Given the description of an element on the screen output the (x, y) to click on. 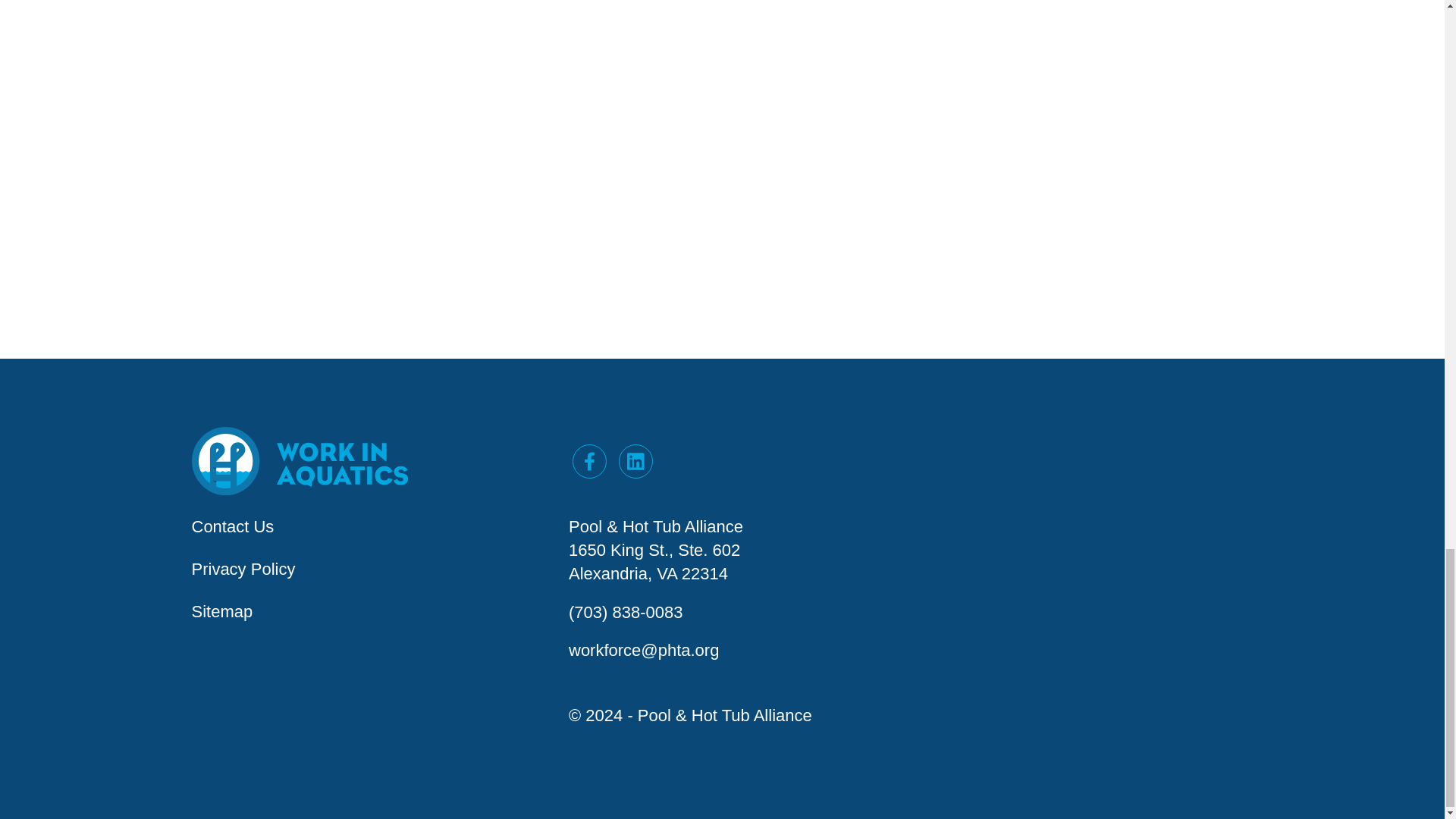
Sitemap (220, 610)
Facebook (589, 461)
Privacy Policy (242, 568)
Contact Us (231, 526)
LinkedIn (635, 461)
